Given the description of an element on the screen output the (x, y) to click on. 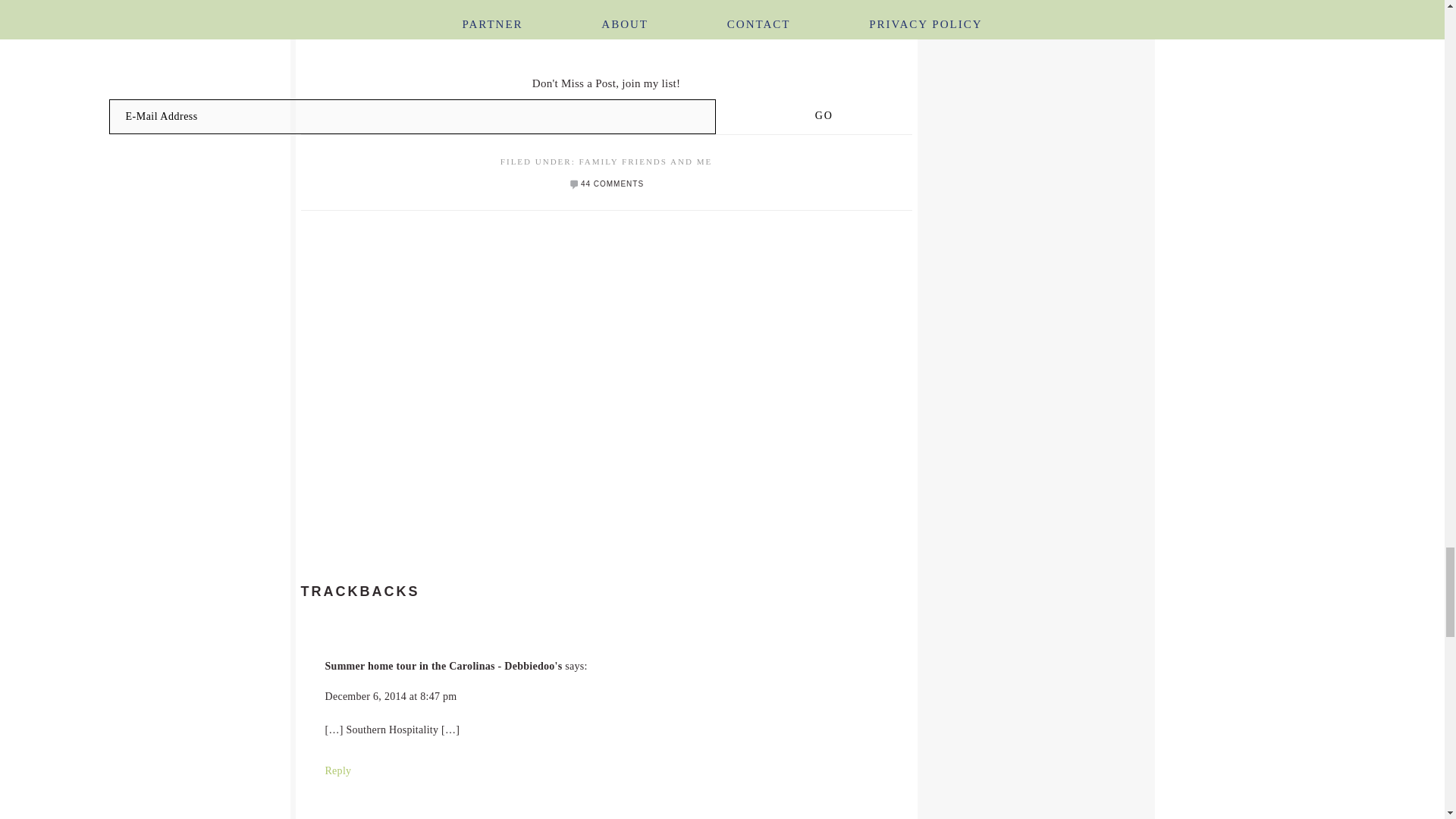
Twitter (614, 23)
Go (823, 115)
Facebook (595, 23)
